Given the description of an element on the screen output the (x, y) to click on. 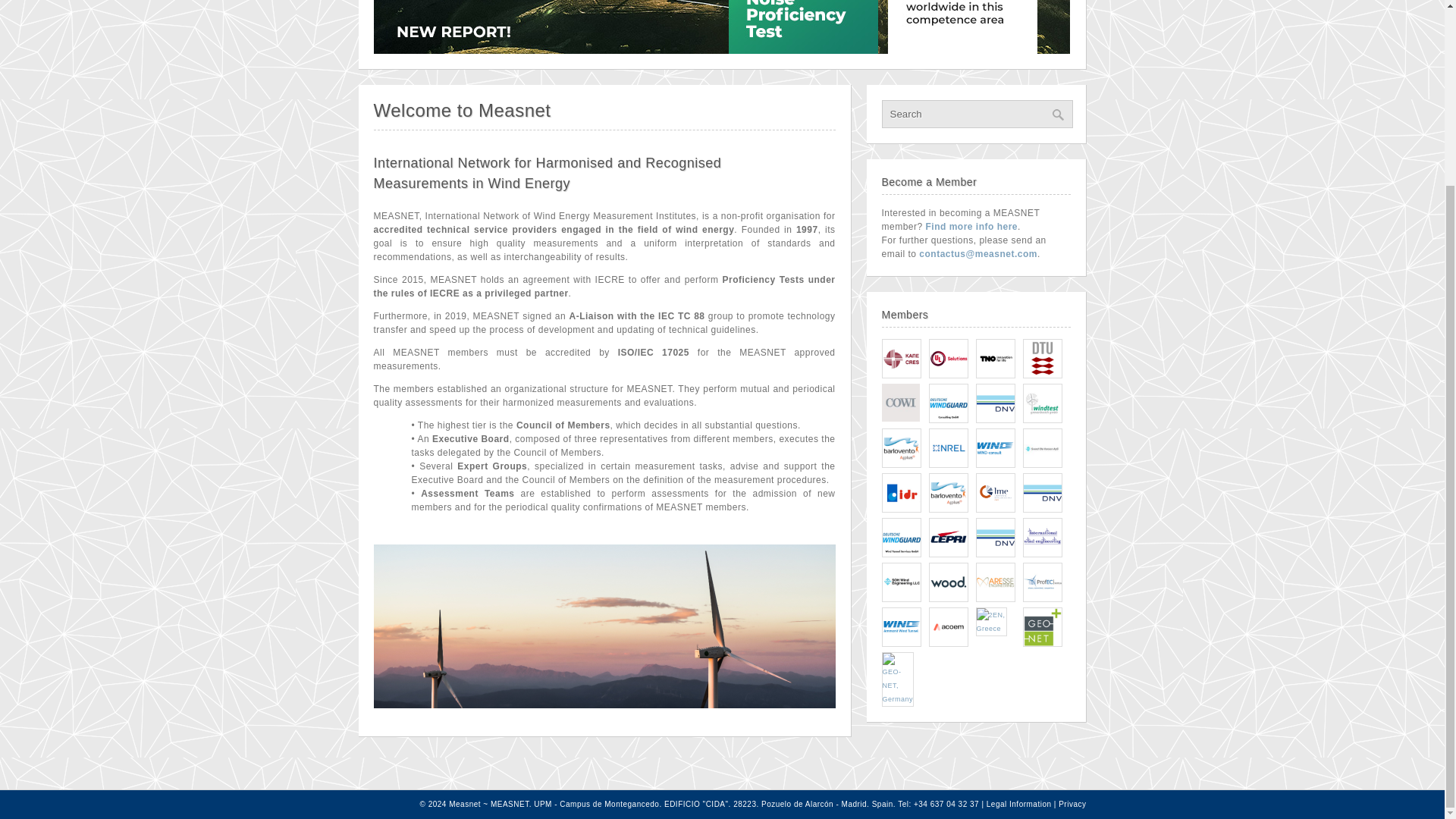
WIND-consult GmbH , Germany (994, 447)
 DNV, Germany (994, 403)
 UL Solutions, Germany (948, 358)
DNV (994, 420)
 WindGuard - Deutsche WindGuard Consulting GmbH, Germany (948, 403)
Search (975, 113)
Find more info here (971, 226)
 NREL - National Renewable Energy Laboratory, USA (948, 447)
 windtest grevenbroich GmbH, Germany (1041, 403)
 CRES - Centre for Renewable Energy Sources, Greece (900, 358)
 Svend Ole Hansen ApS, Denmark (1041, 447)
DTU Wind Energy, Denmark (1041, 358)
 TNO - Innovation for life, The Netherlands (994, 358)
